Given the description of an element on the screen output the (x, y) to click on. 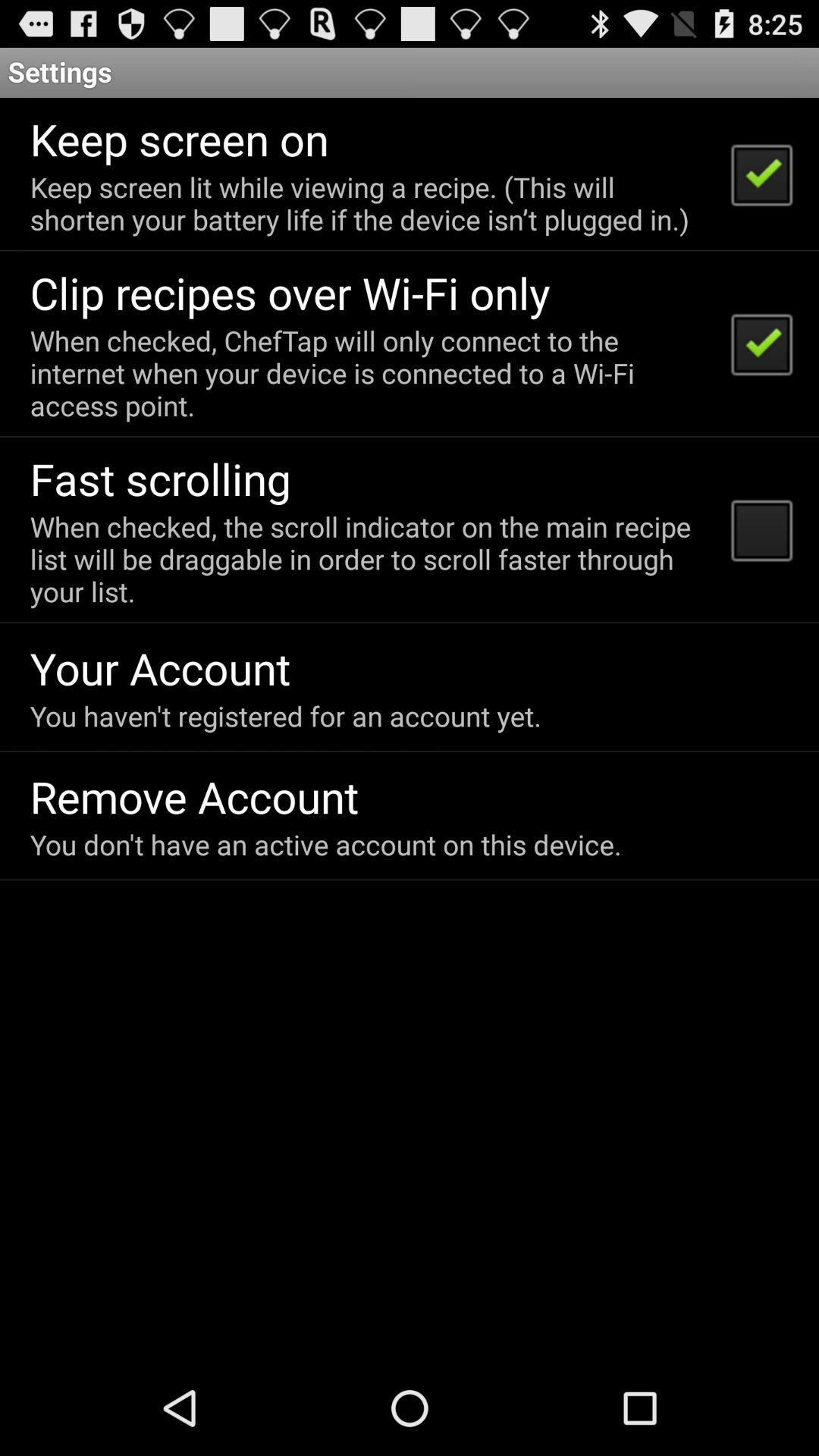
choose app above you haven t (160, 667)
